Given the description of an element on the screen output the (x, y) to click on. 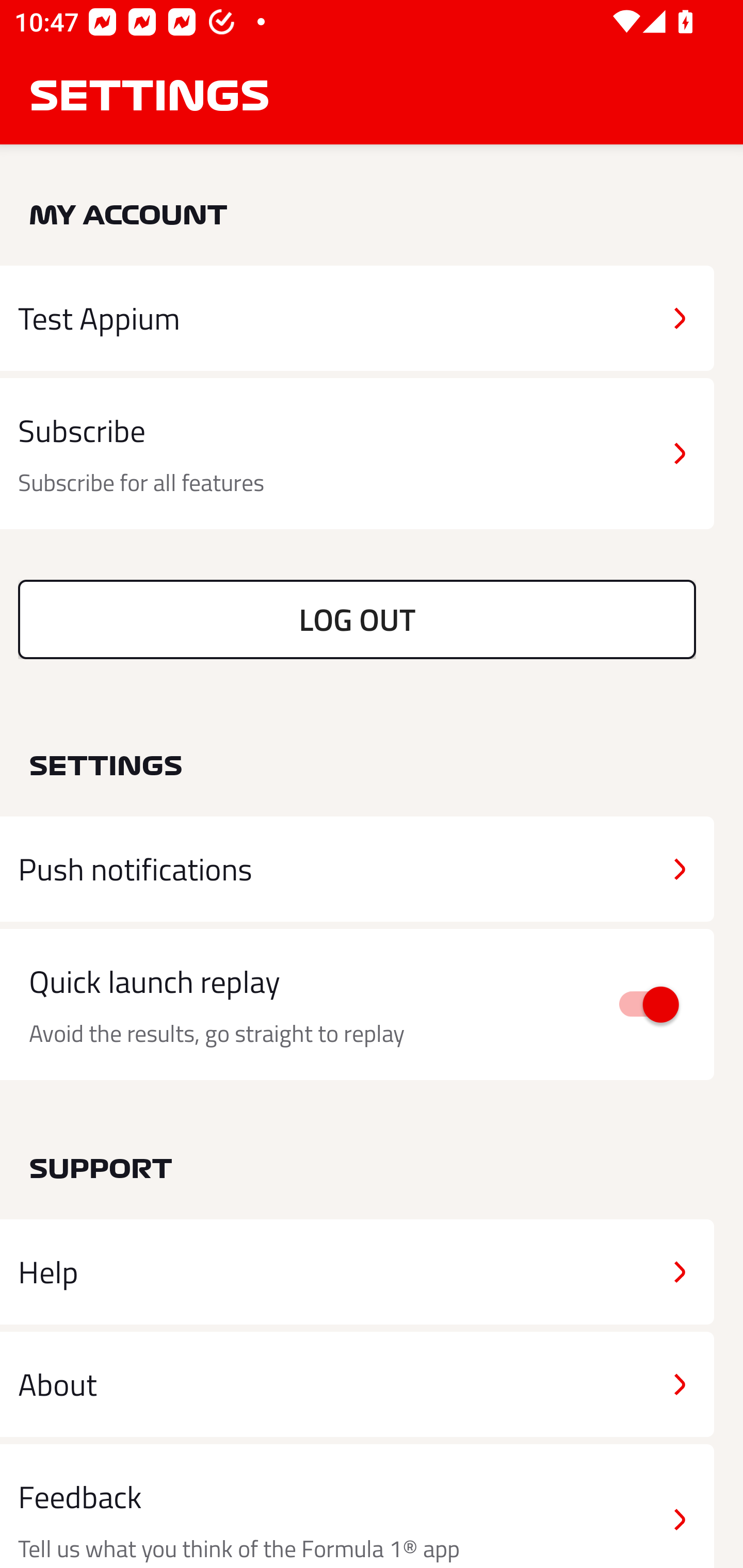
Test Appium (357, 317)
Subscribe Subscribe for all features (357, 453)
LOG OUT (356, 619)
Push notifications (357, 868)
Help (357, 1271)
About (357, 1383)
